Given the description of an element on the screen output the (x, y) to click on. 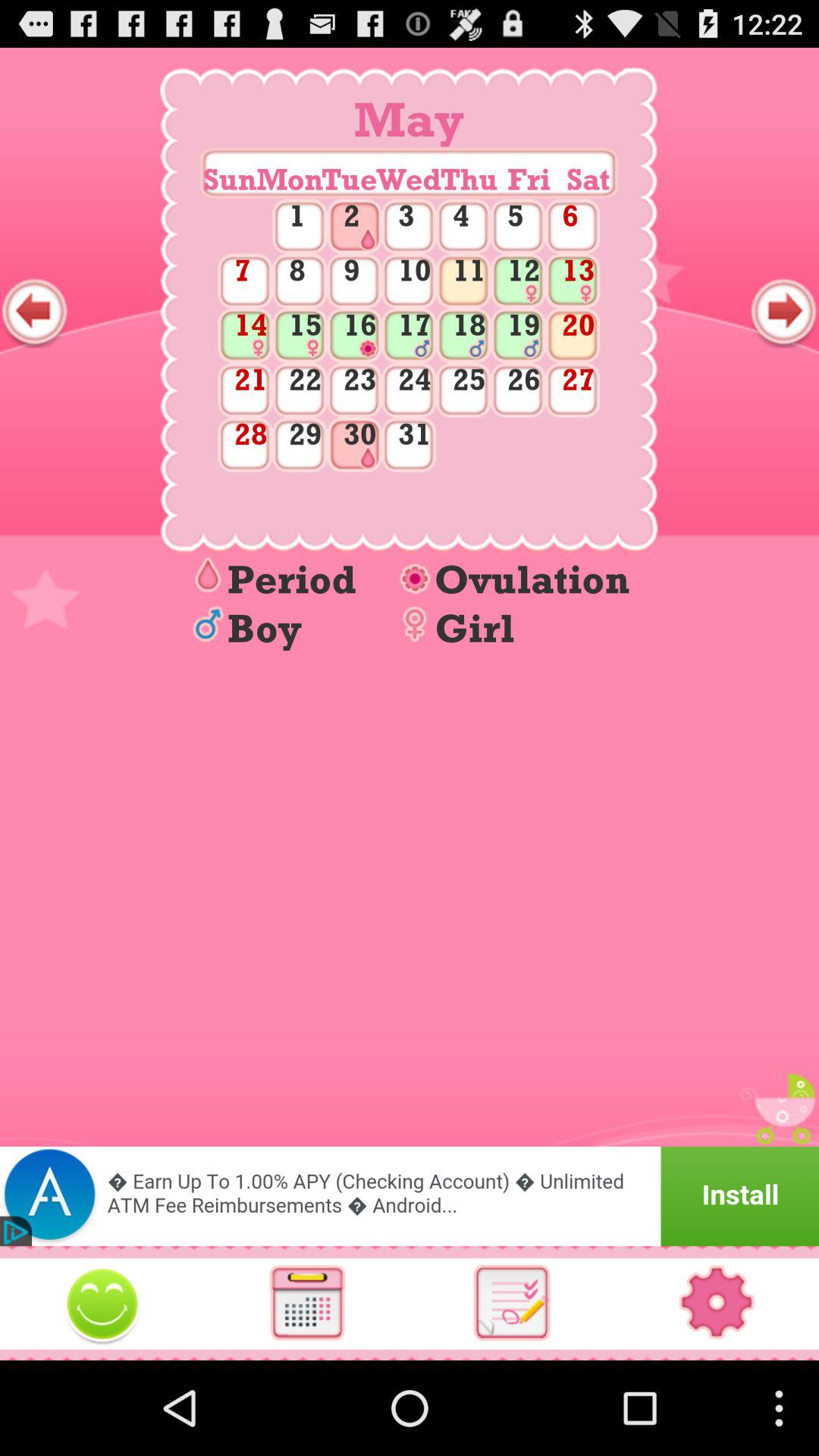
setting button (716, 1302)
